Given the description of an element on the screen output the (x, y) to click on. 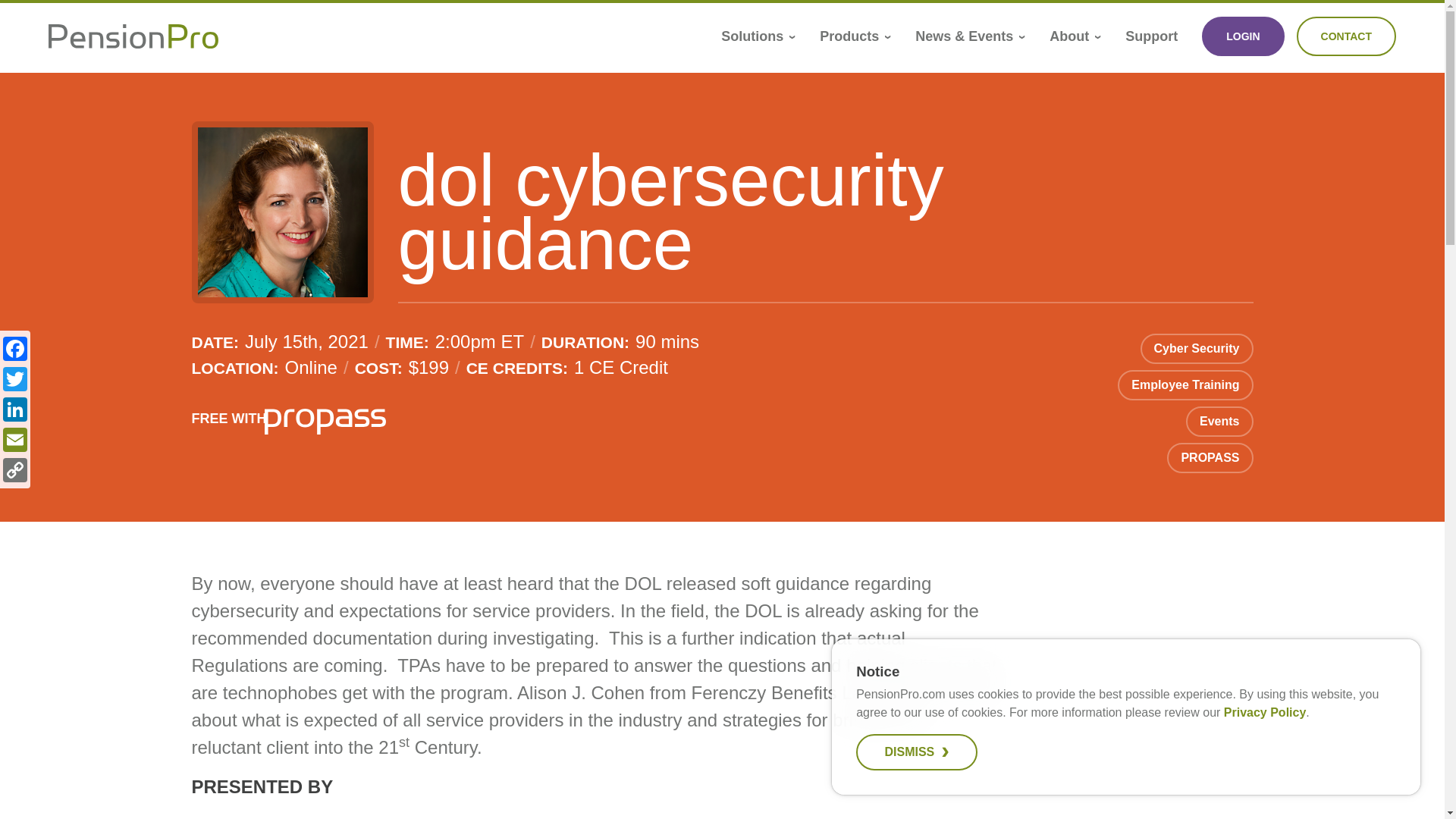
CONTACT (1346, 36)
Products (855, 36)
About (1074, 36)
LOGIN (1243, 36)
Support (1151, 36)
Solutions (758, 36)
